Given the description of an element on the screen output the (x, y) to click on. 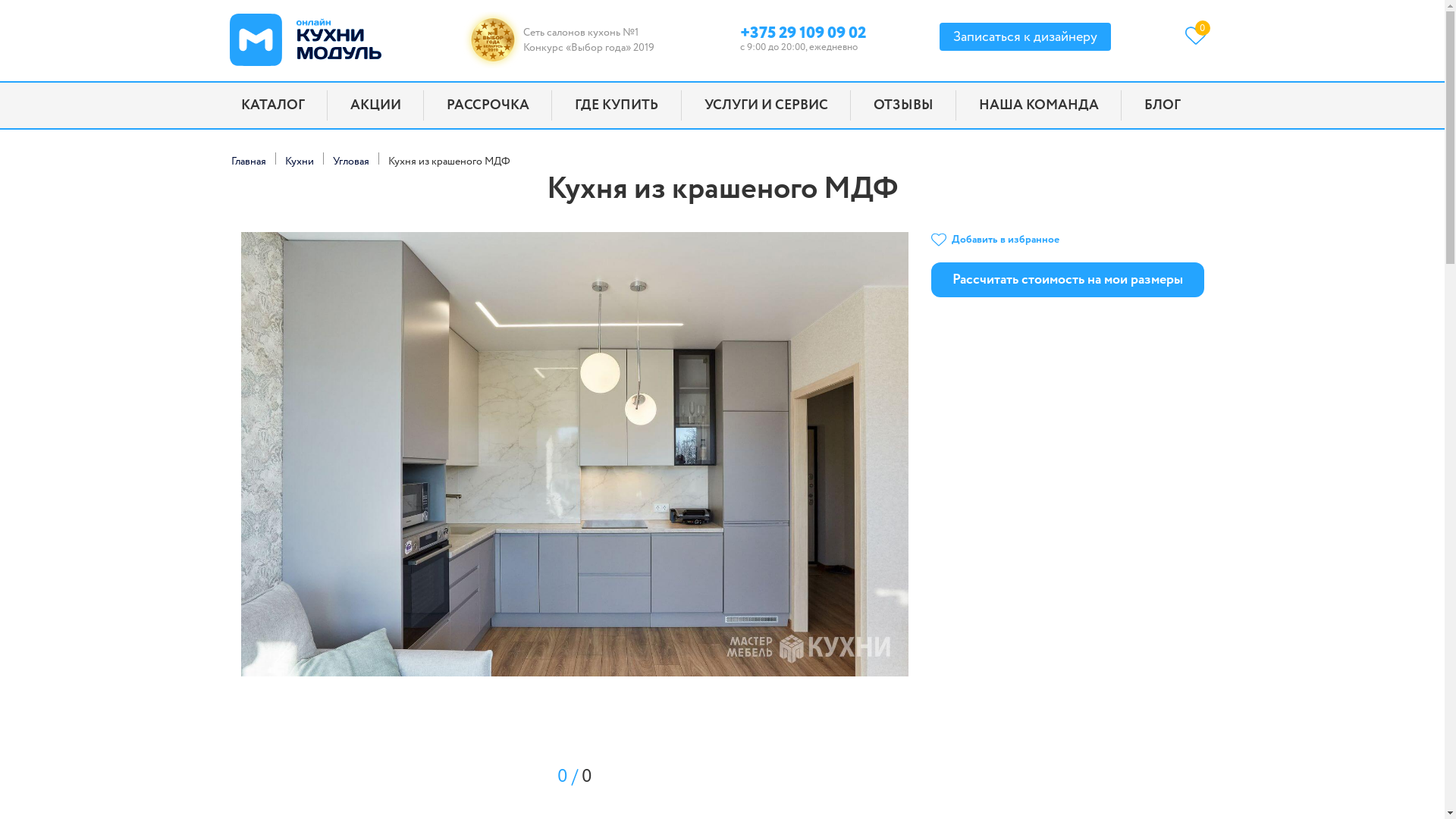
+375 29 109 09 02 Element type: text (803, 30)
0 Element type: text (1199, 34)
